Given the description of an element on the screen output the (x, y) to click on. 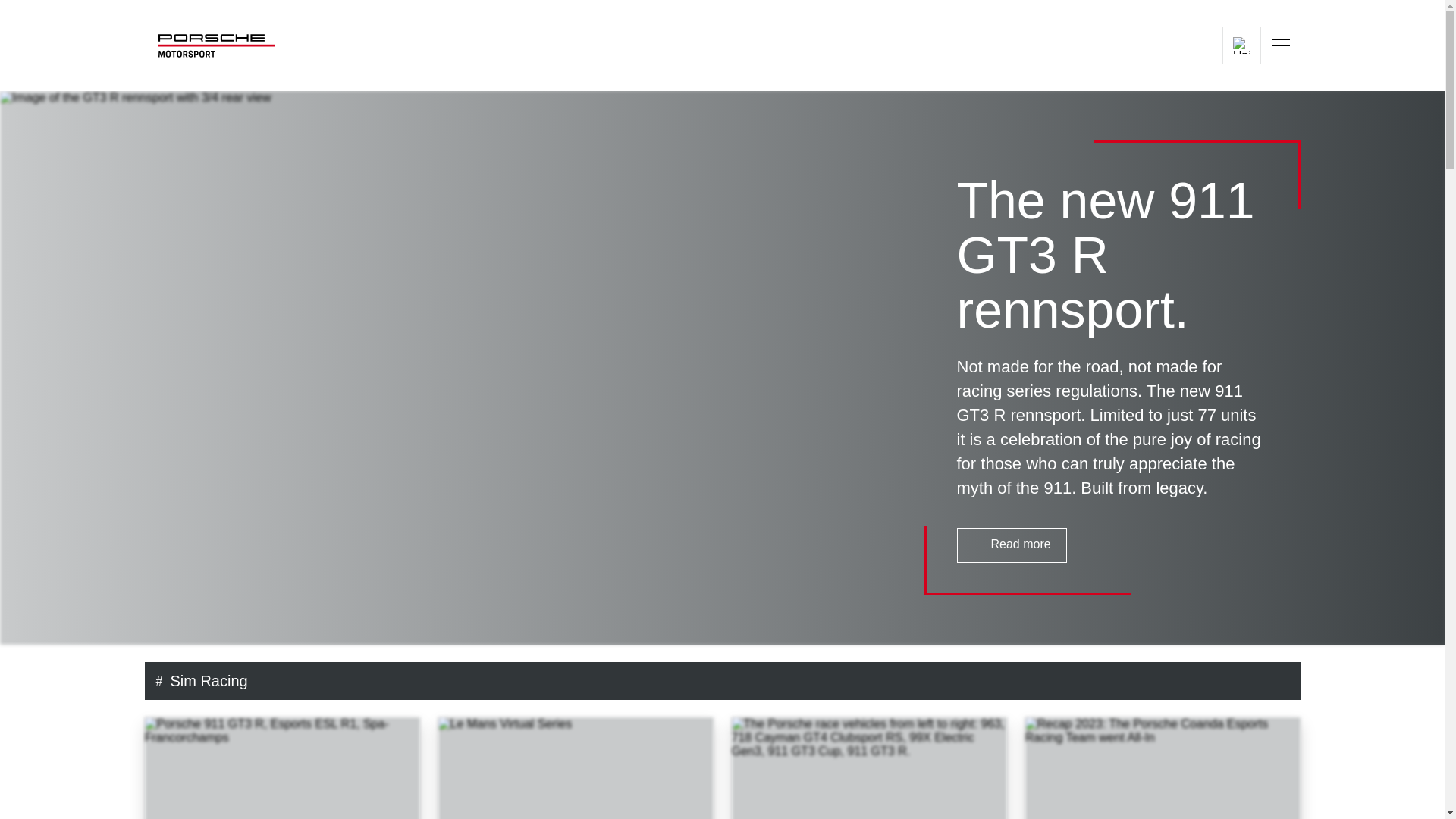
Sim Racing (730, 680)
Sim Racing (730, 680)
